Given the description of an element on the screen output the (x, y) to click on. 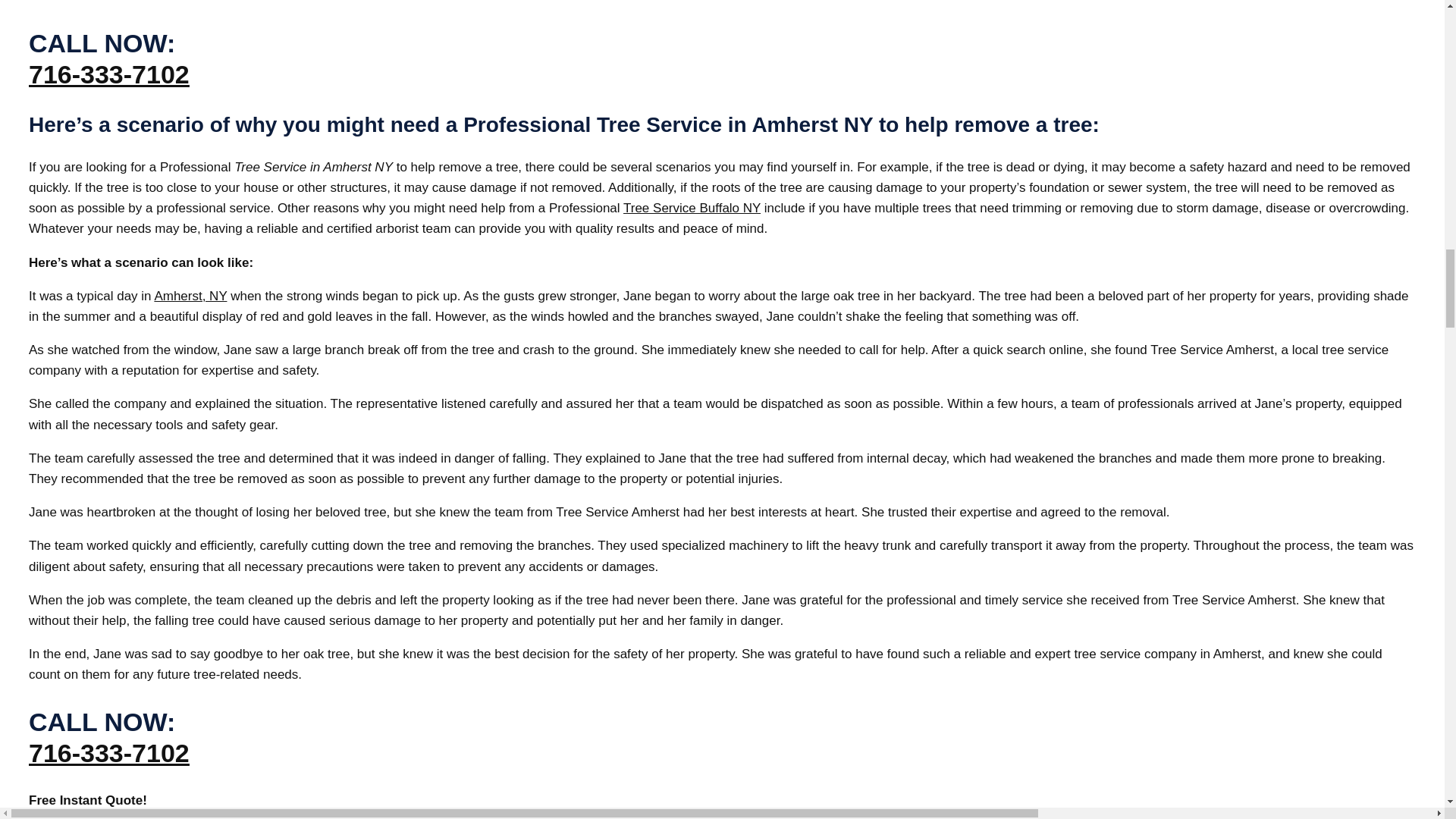
716-333-7102 (109, 73)
Amherst, NY (190, 296)
Tree Service Buffalo NY (691, 207)
716-333-7102 (109, 752)
